Given the description of an element on the screen output the (x, y) to click on. 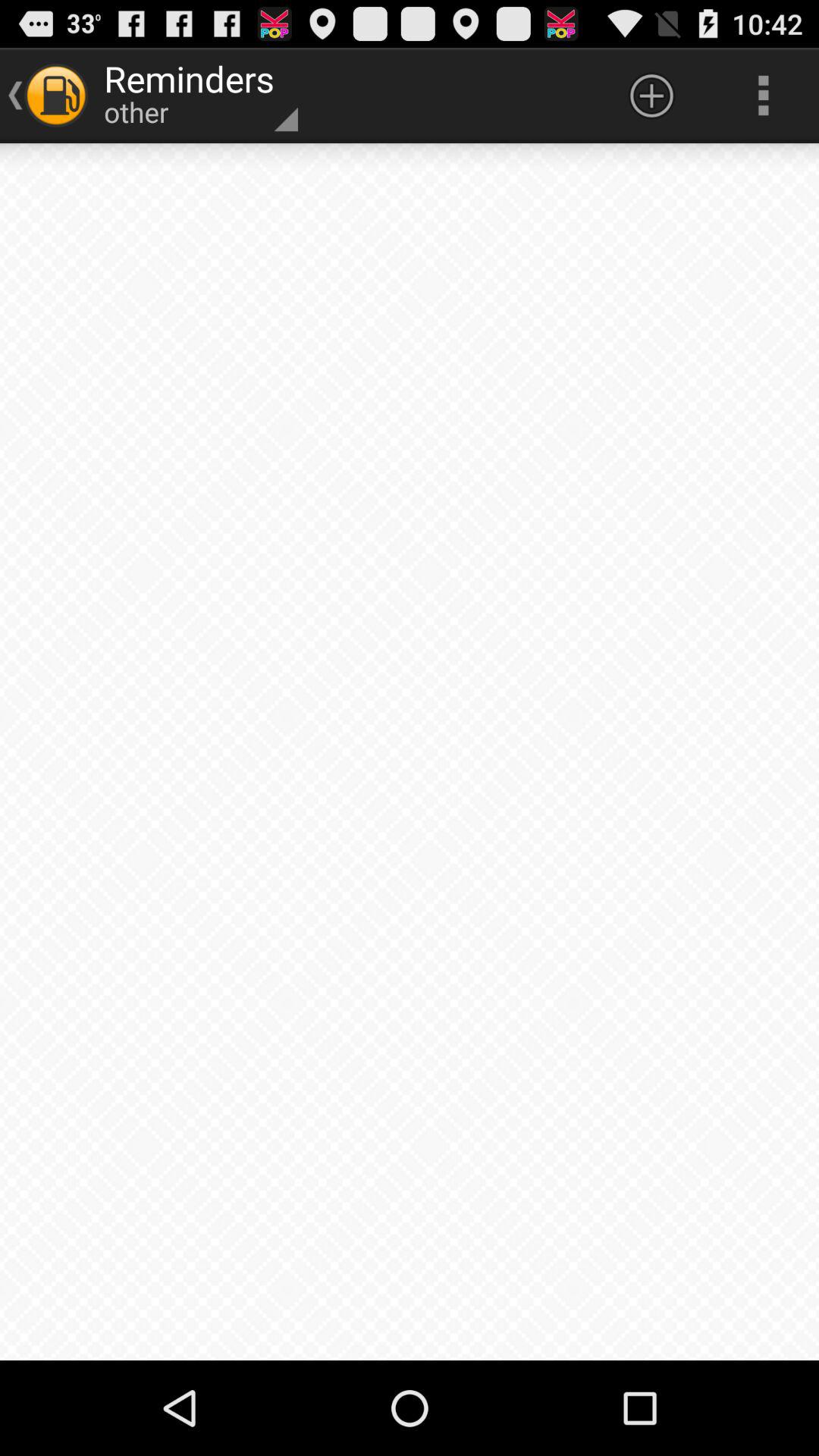
turn on icon next to the reminders (651, 95)
